Given the description of an element on the screen output the (x, y) to click on. 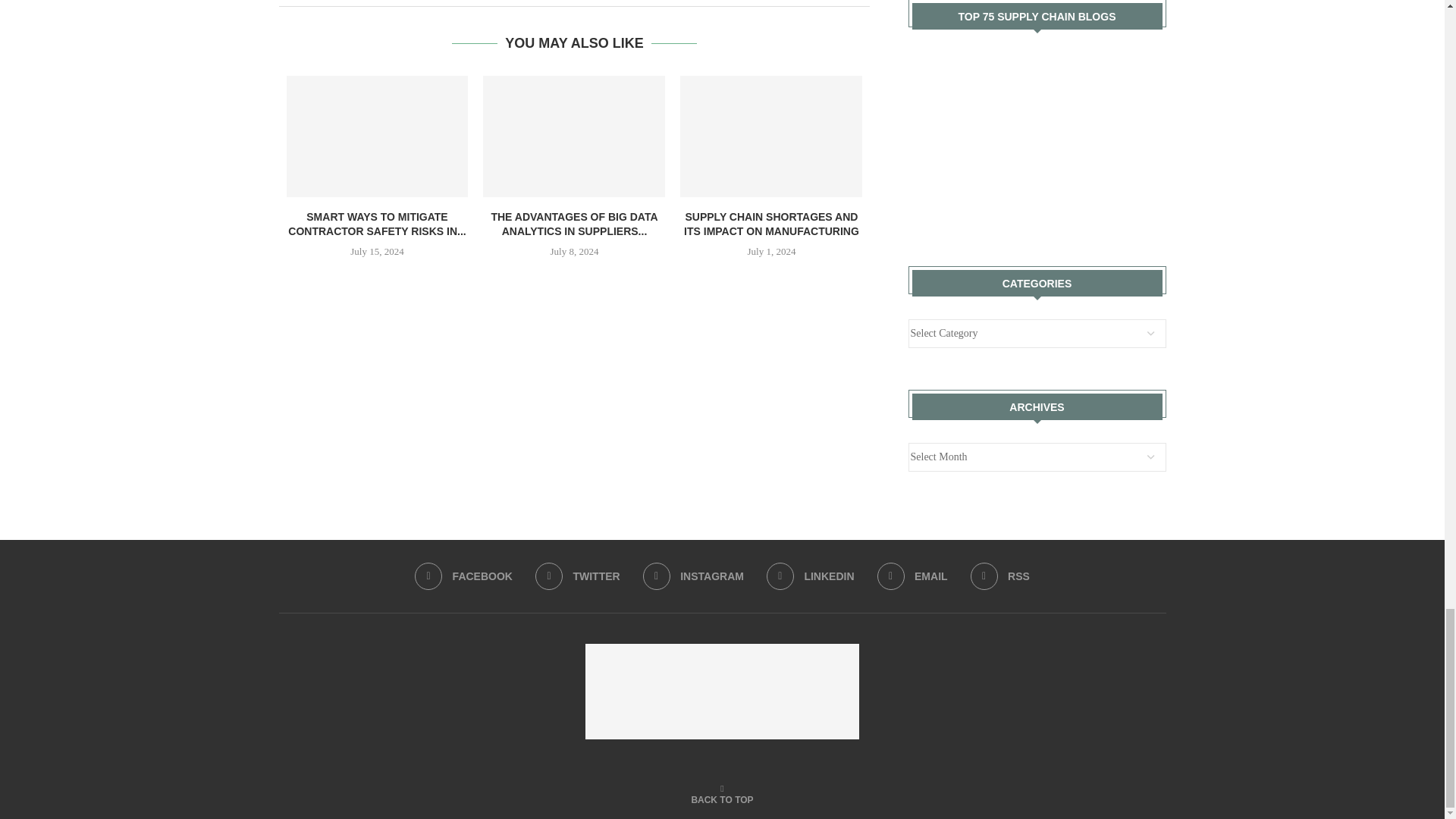
The Advantages of Big Data Analytics in Suppliers Management (574, 136)
Supply Chain Shortages And Its Impact On Manufacturing (770, 136)
